Given the description of an element on the screen output the (x, y) to click on. 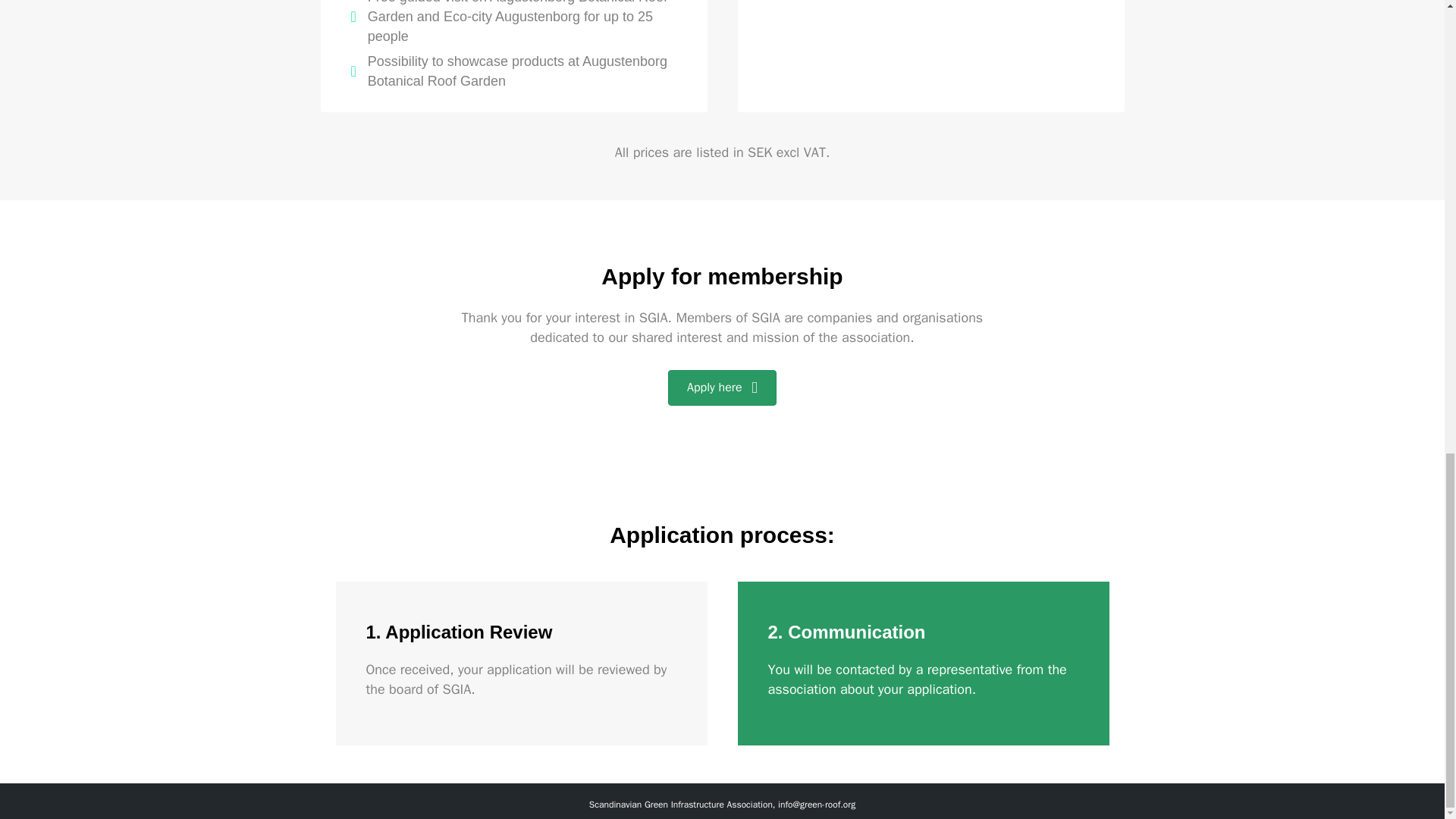
Apply here (722, 387)
